Given the description of an element on the screen output the (x, y) to click on. 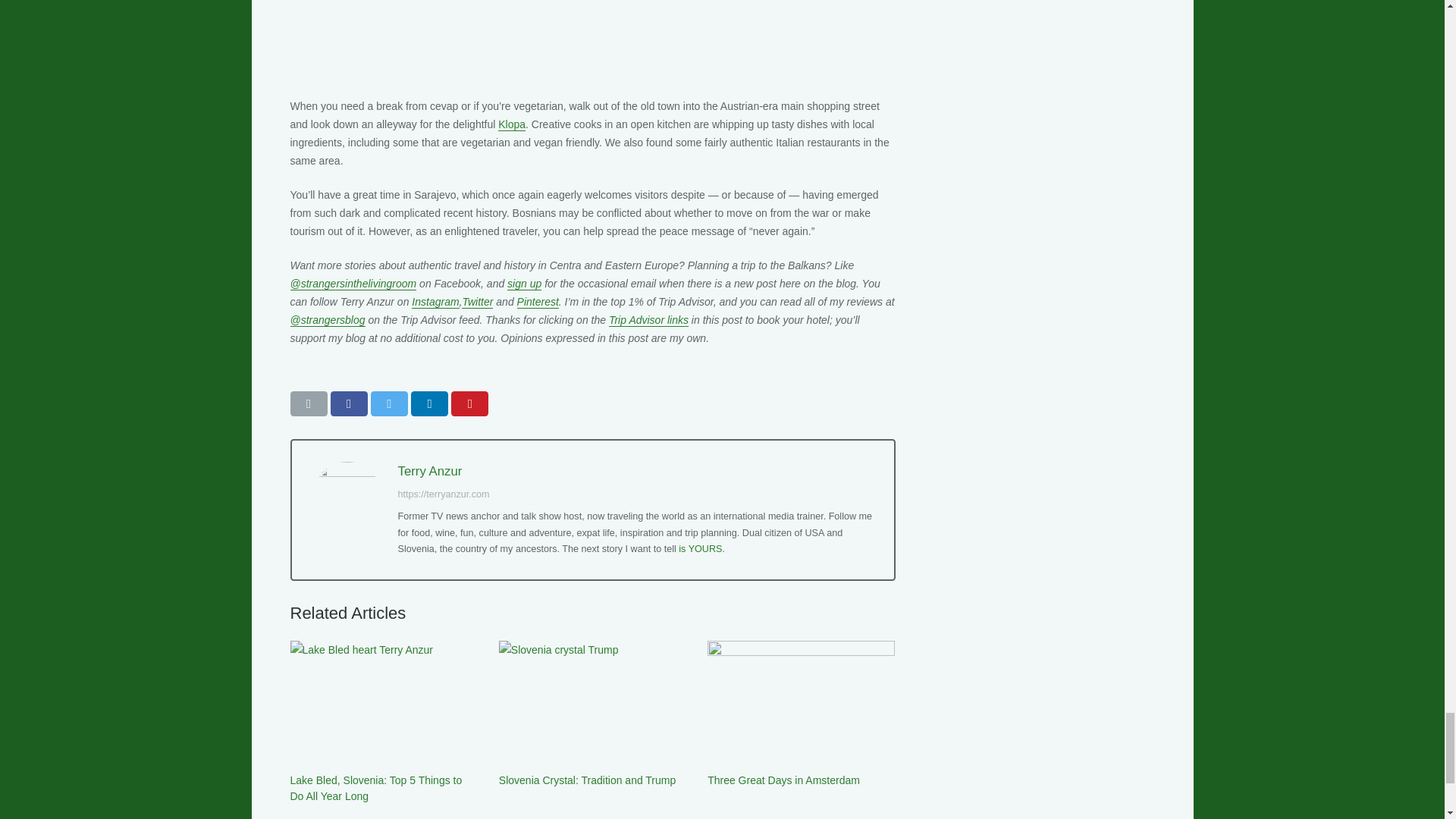
Tweet this (389, 403)
Email this (307, 403)
Share this (349, 403)
Pin this (469, 403)
Share this (429, 403)
